Given the description of an element on the screen output the (x, y) to click on. 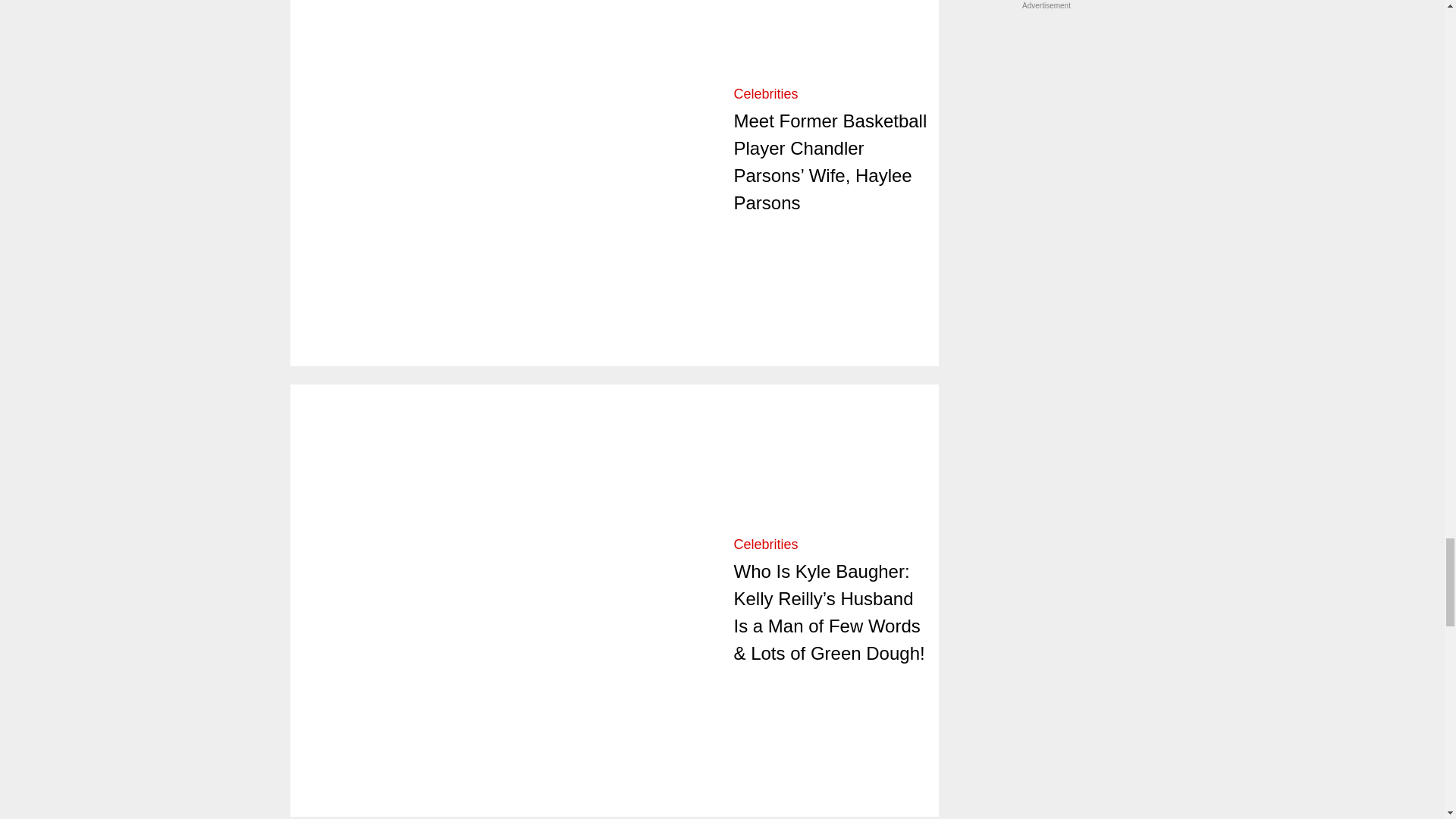
Category Name (765, 93)
Category Name (765, 544)
